Given the description of an element on the screen output the (x, y) to click on. 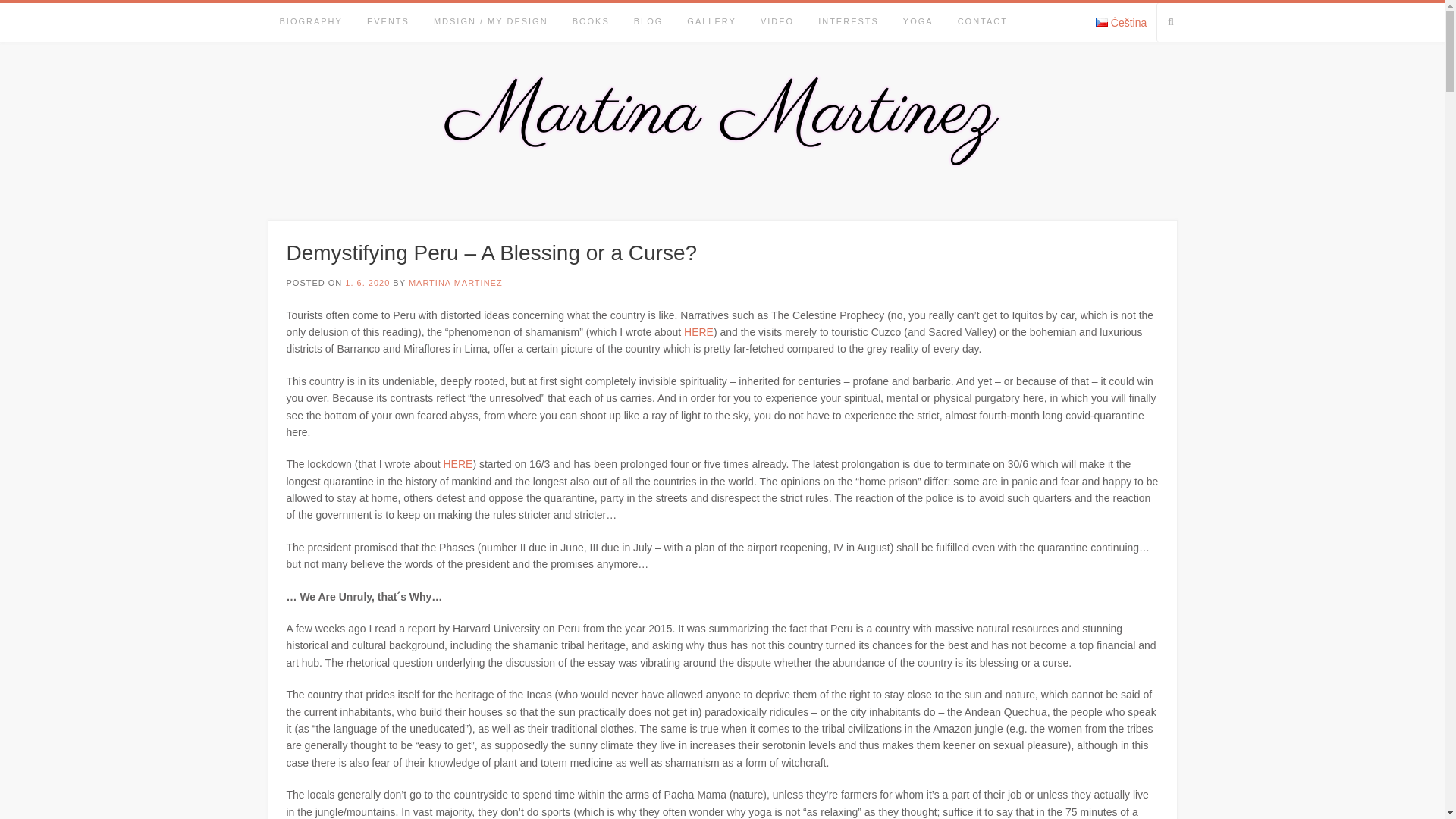
VIDEO (777, 22)
BOOKS (590, 22)
YOGA (917, 22)
CONTACT (982, 22)
INTERESTS (848, 22)
EVENTS (388, 22)
BLOG (648, 22)
GALLERY (711, 22)
BIOGRAPHY (309, 22)
